Given the description of an element on the screen output the (x, y) to click on. 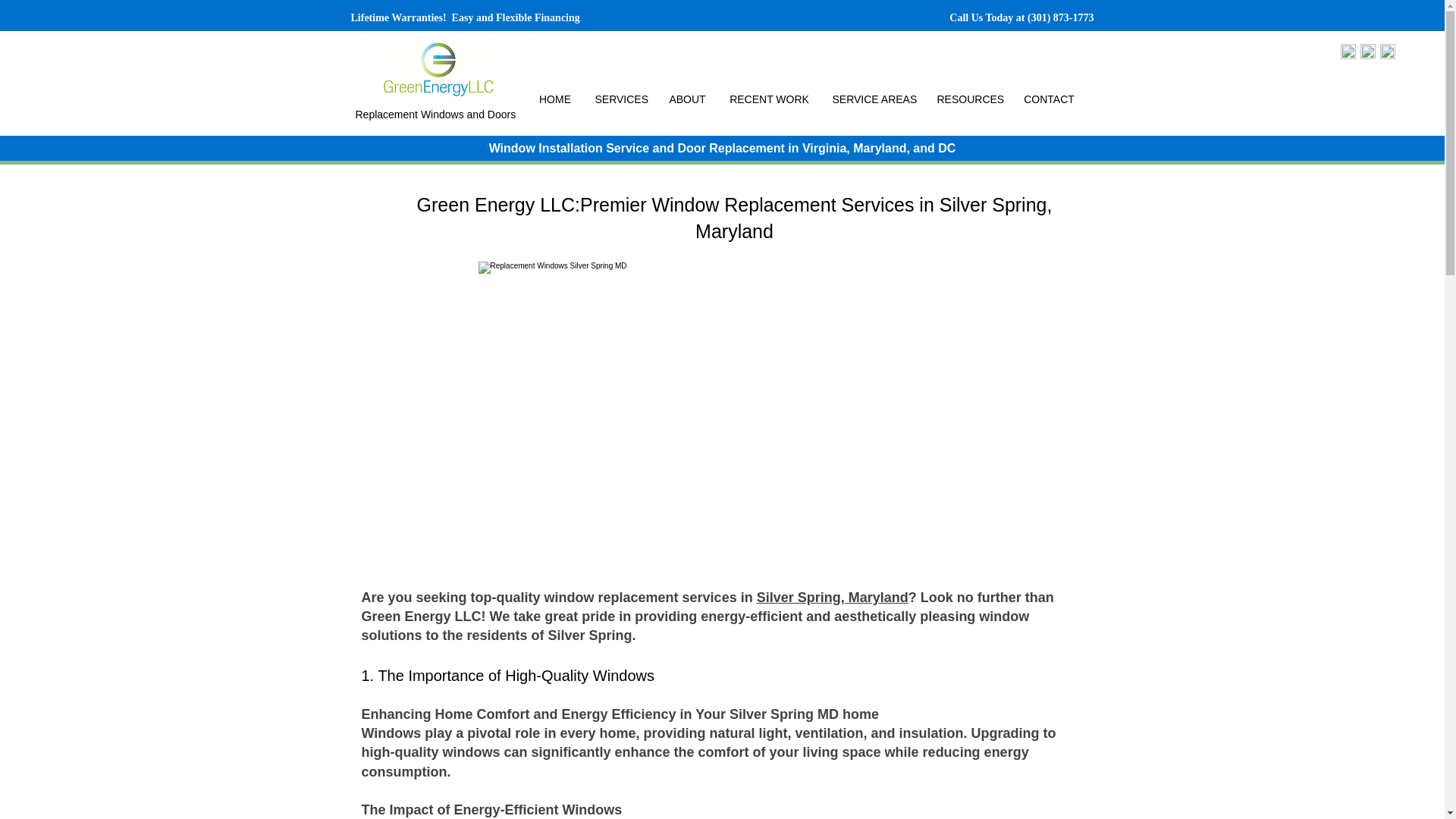
Silver Spring, Maryland (832, 597)
RECENT WORK (769, 99)
ABOUT (686, 99)
Replacement Windows Maryland (440, 69)
HOME (554, 99)
SERVICES (620, 99)
CONTACT (1048, 99)
